Given the description of an element on the screen output the (x, y) to click on. 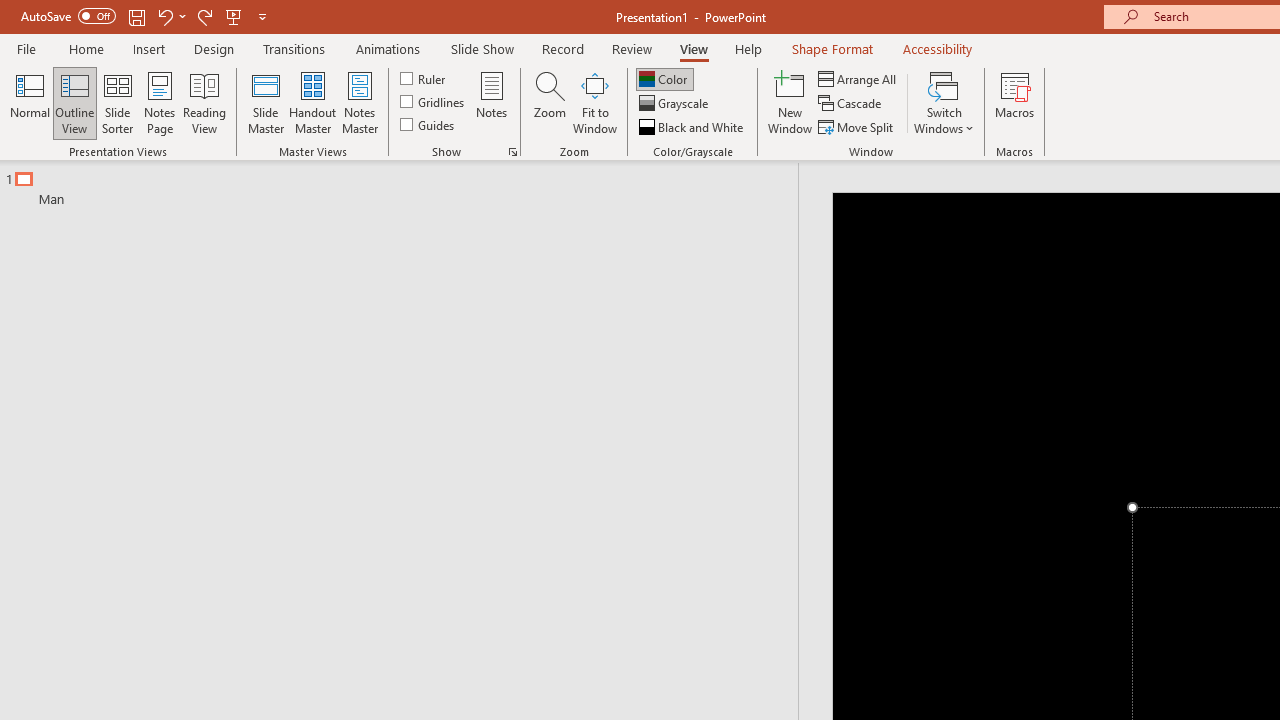
Fit to Window (594, 102)
Outline View (74, 102)
Zoom... (549, 102)
Handout Master (312, 102)
Slide Master (265, 102)
